Given the description of an element on the screen output the (x, y) to click on. 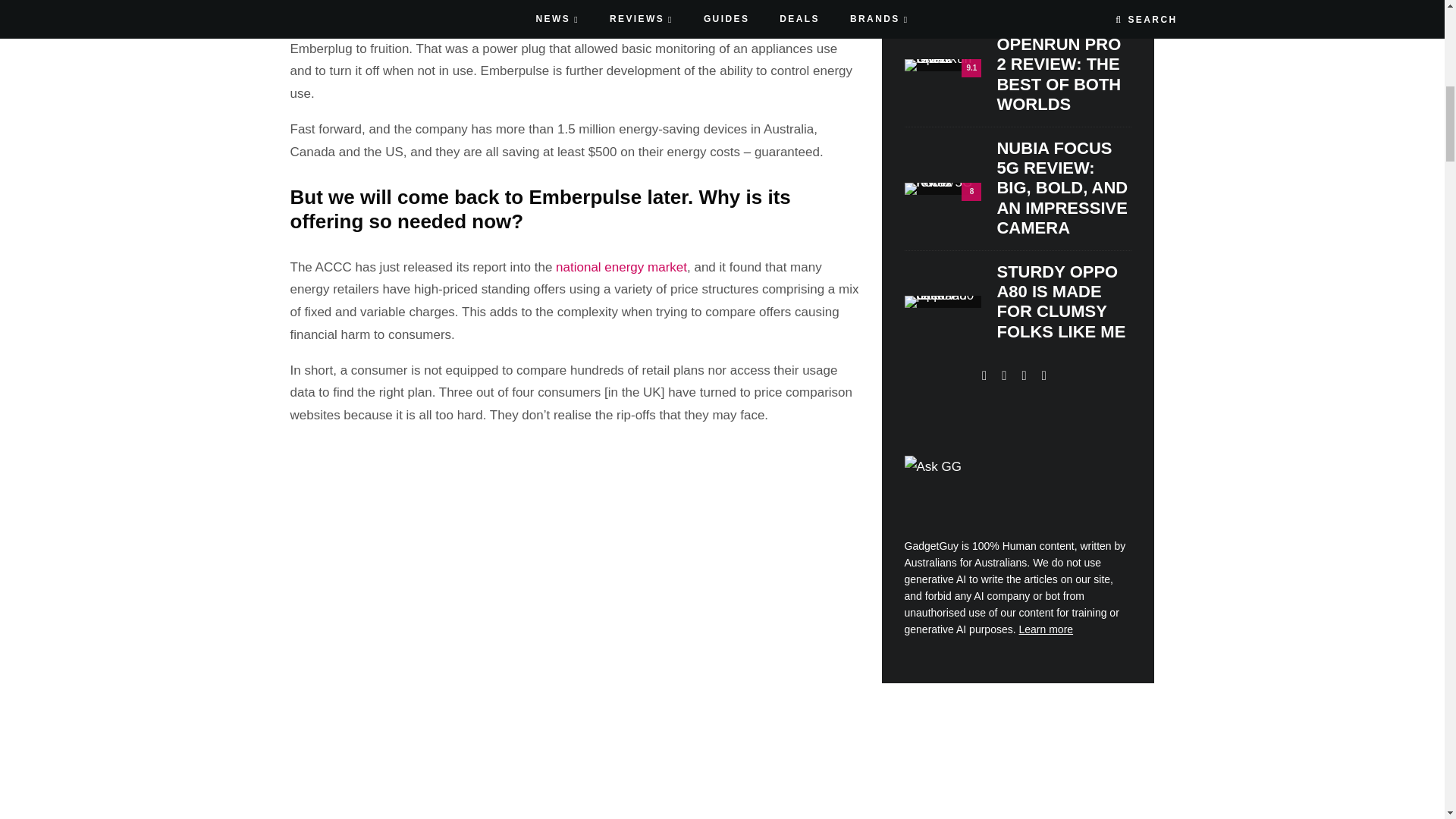
Shokz OpenRun Pro 2 review (942, 64)
Nubia Focus 5G review V2 (942, 188)
Oppo A80 release date and price (942, 301)
